Given the description of an element on the screen output the (x, y) to click on. 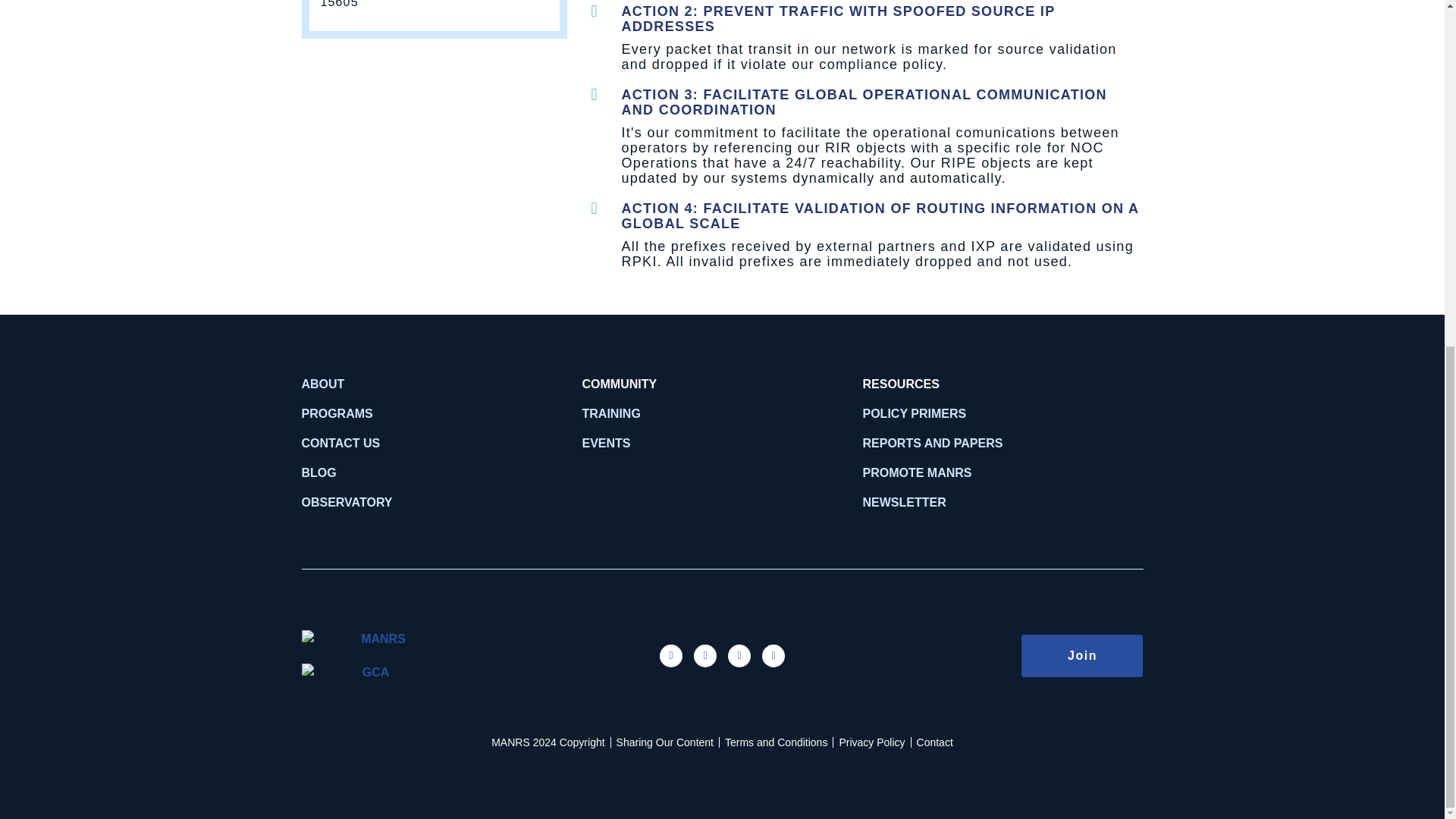
Twitter (705, 655)
Contact (935, 742)
Linkedin (739, 655)
Privacy Policy (871, 742)
Facebook (670, 655)
Terms and Conditions (776, 742)
YouTube (772, 655)
Sharing Our Content (664, 742)
